Given the description of an element on the screen output the (x, y) to click on. 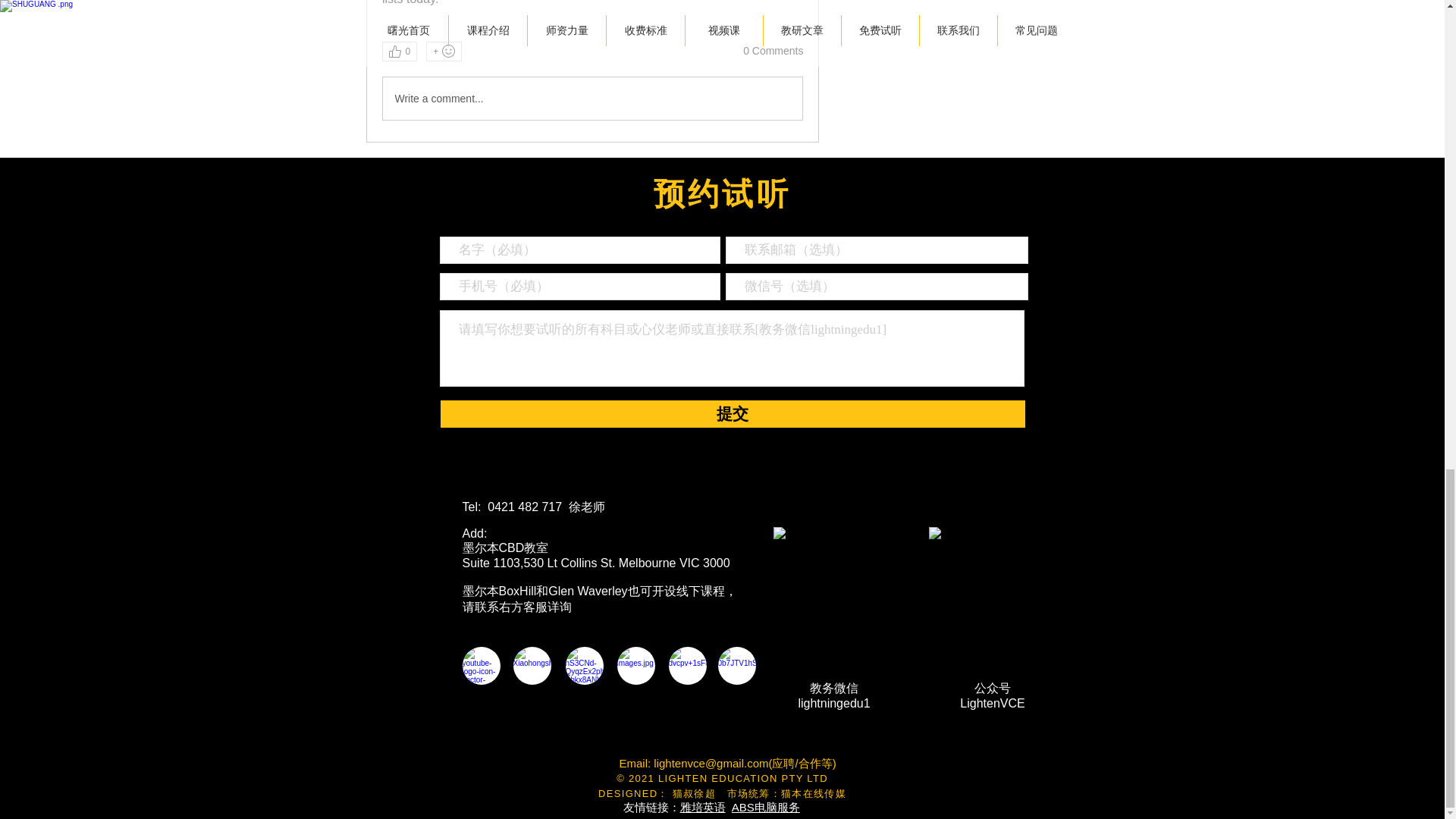
Write a comment... (591, 97)
0 Comments (772, 51)
